Given the description of an element on the screen output the (x, y) to click on. 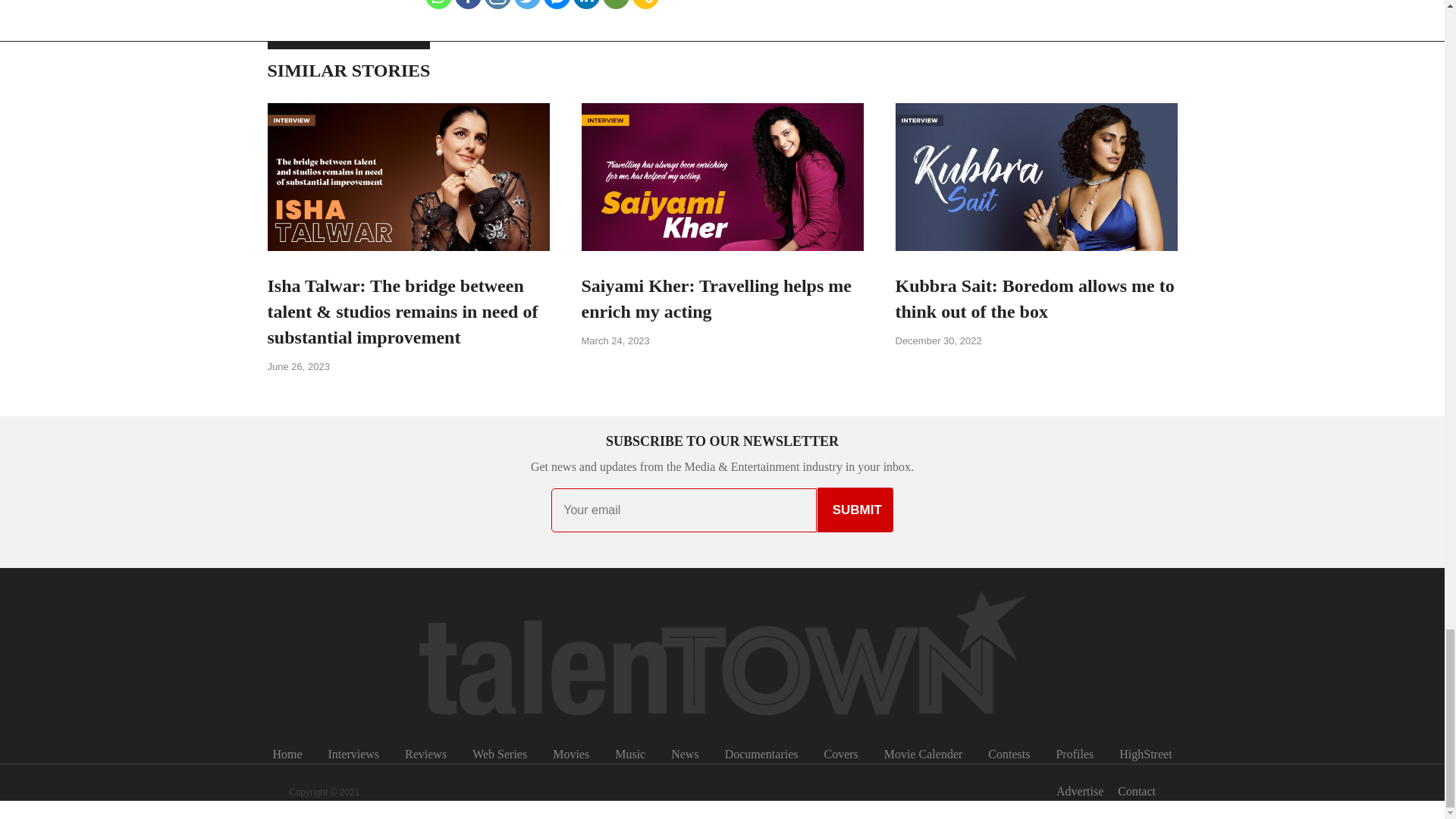
Facebook Messenger (556, 4)
Saiyami Kher: Travelling helps me enrich my acting (715, 298)
Whatsapp (438, 4)
Twitter (526, 4)
Linkedin (586, 4)
Copy Link (645, 4)
Email (615, 4)
Instagram (497, 4)
Facebook (467, 4)
